Given the description of an element on the screen output the (x, y) to click on. 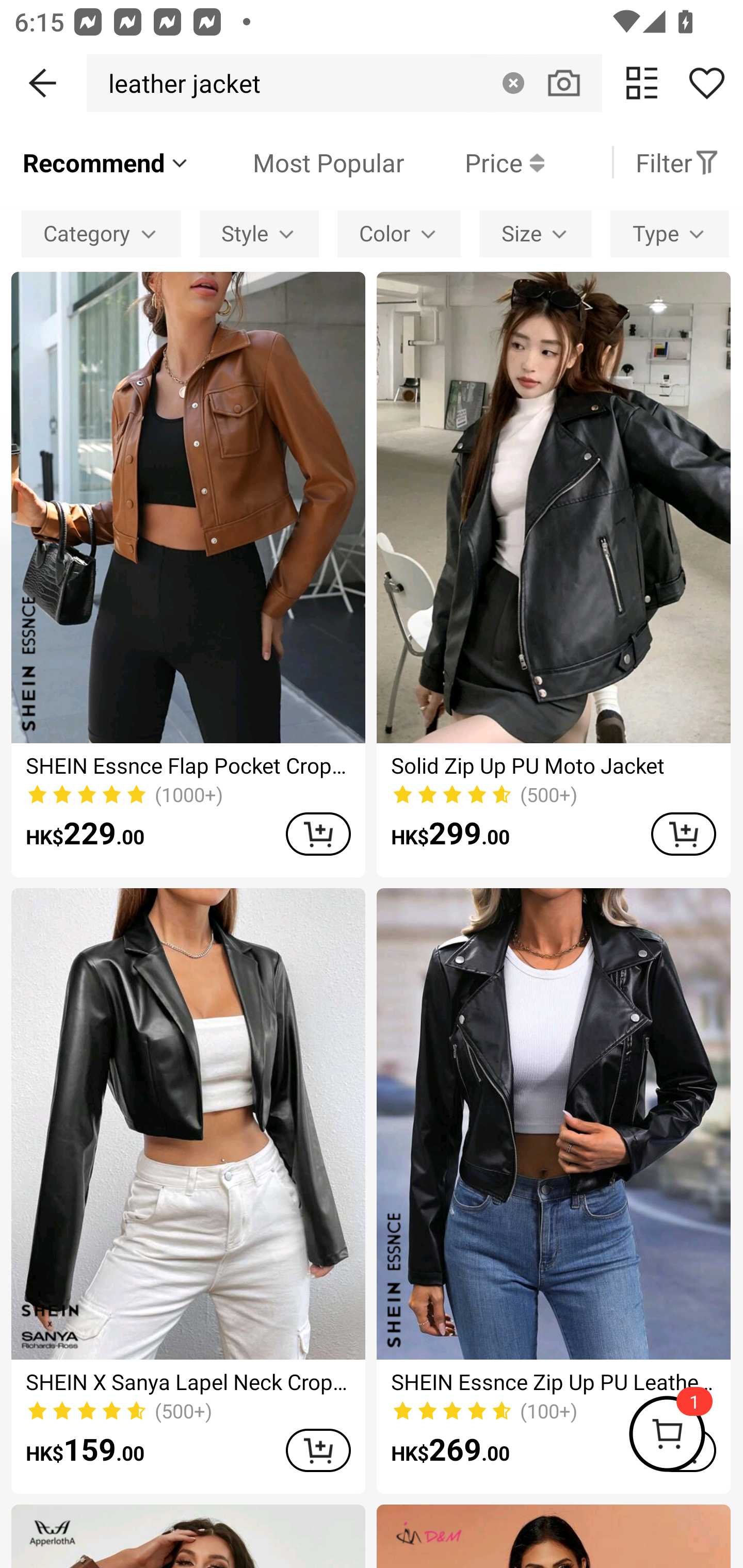
leather jacket Clear (343, 82)
leather jacket (178, 82)
Clear (513, 82)
change view (641, 82)
Share (706, 82)
Recommend (106, 162)
Most Popular (297, 162)
Price (474, 162)
Filter (677, 162)
Category (101, 233)
Style (258, 233)
Color (398, 233)
Size (535, 233)
Type (669, 233)
ADD TO CART (318, 834)
ADD TO CART (683, 834)
ADD TO CART (318, 1450)
